Given the description of an element on the screen output the (x, y) to click on. 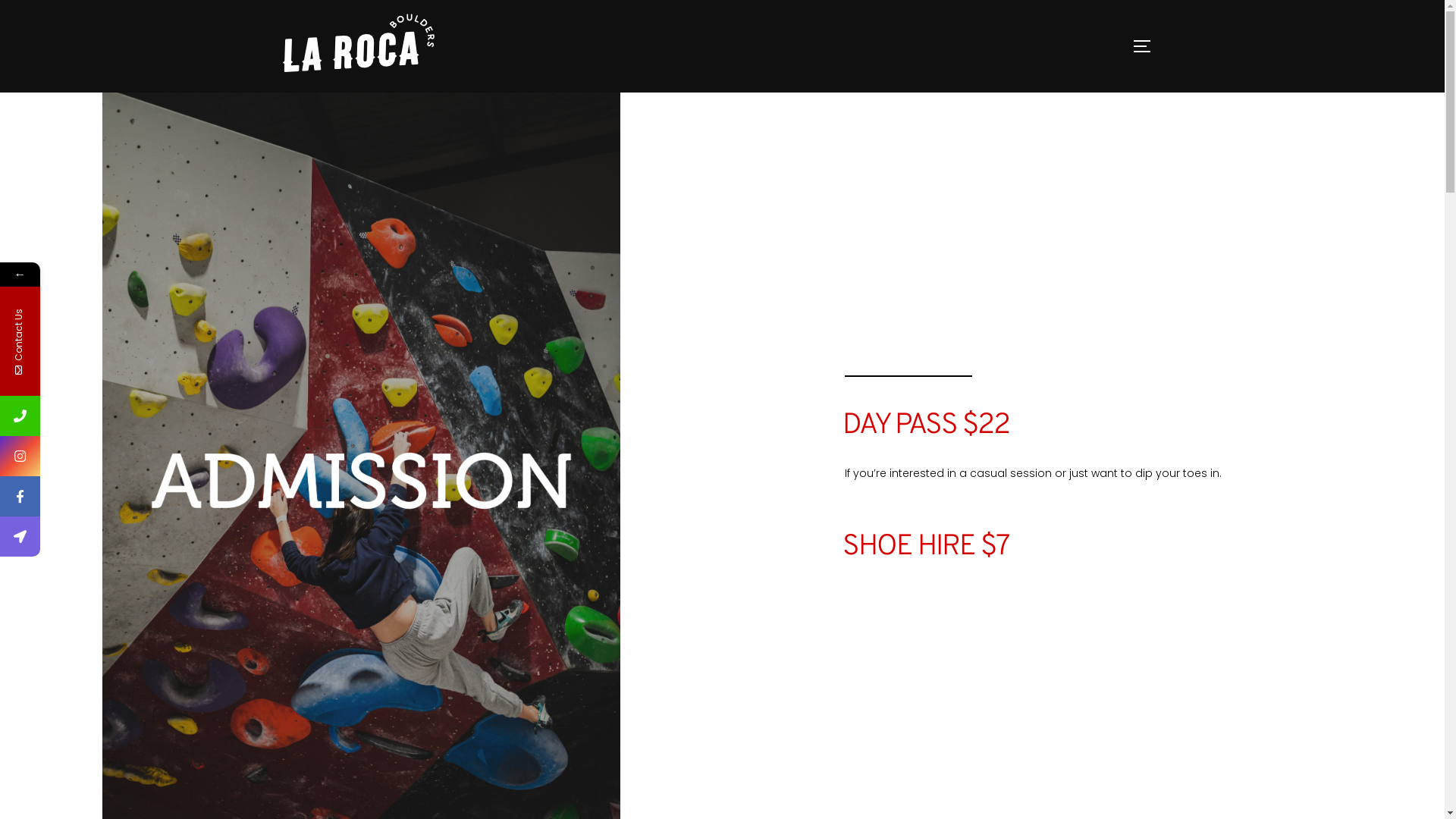
https://www.facebook.com/profile.php?id=100046352926651 Element type: hover (20, 496)
Call us Element type: text (92, 415)
Get directions Element type: text (92, 536)
https://goo.gl/maps/sa9ZxsmRuhUFGuKm7 Element type: hover (20, 536)
Send it! Element type: text (196, 582)
Facebook Element type: text (92, 496)
+61447046082 Element type: hover (20, 415)
 https://www.instagram.com/la.roca.boulders/ Element type: hover (20, 456)
Follow us on insta Element type: text (95, 456)
